Given the description of an element on the screen output the (x, y) to click on. 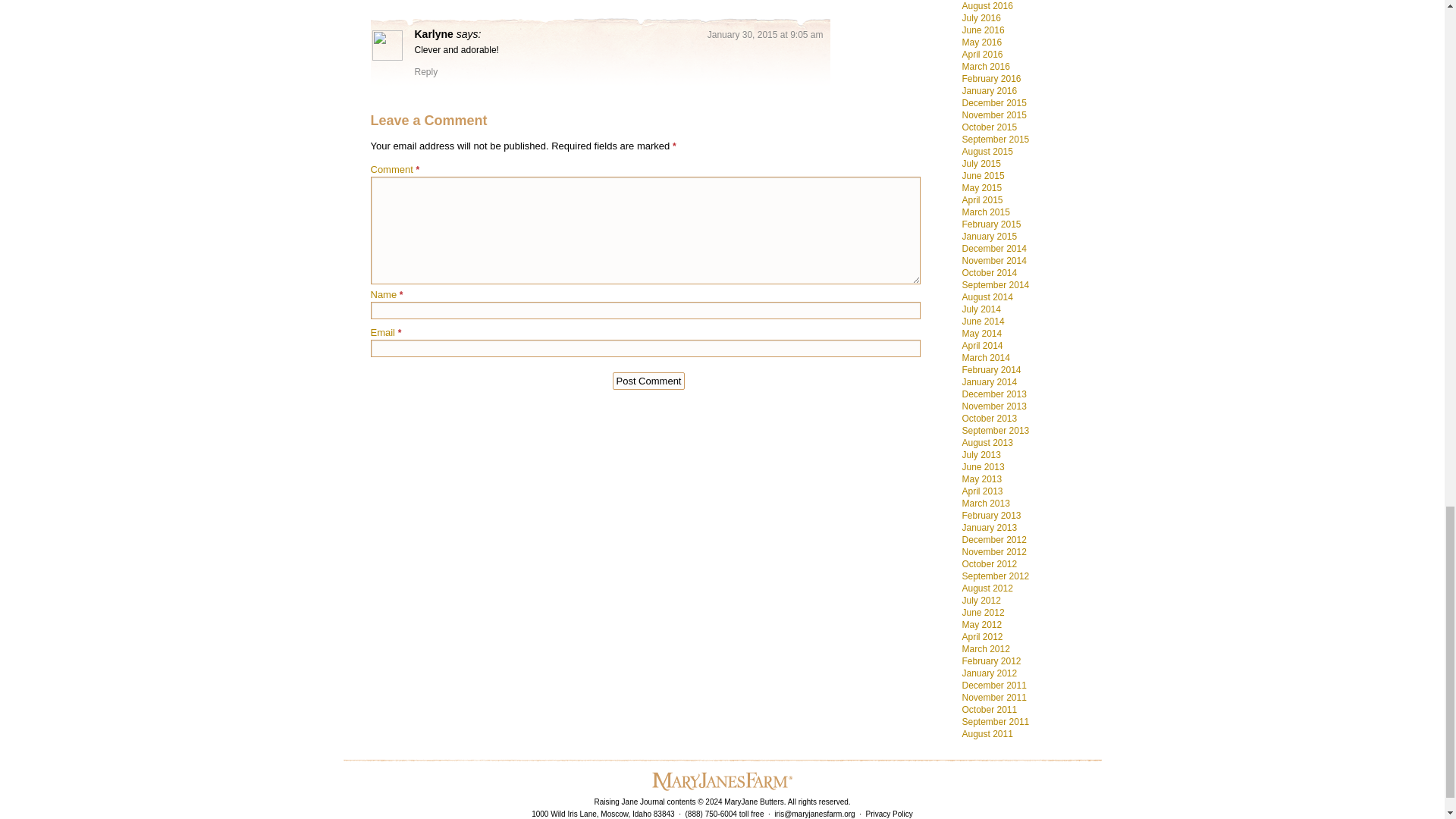
January 30, 2015 at 9:05 am (765, 34)
Reply (425, 71)
Post Comment (648, 380)
Post Comment (648, 380)
